Given the description of an element on the screen output the (x, y) to click on. 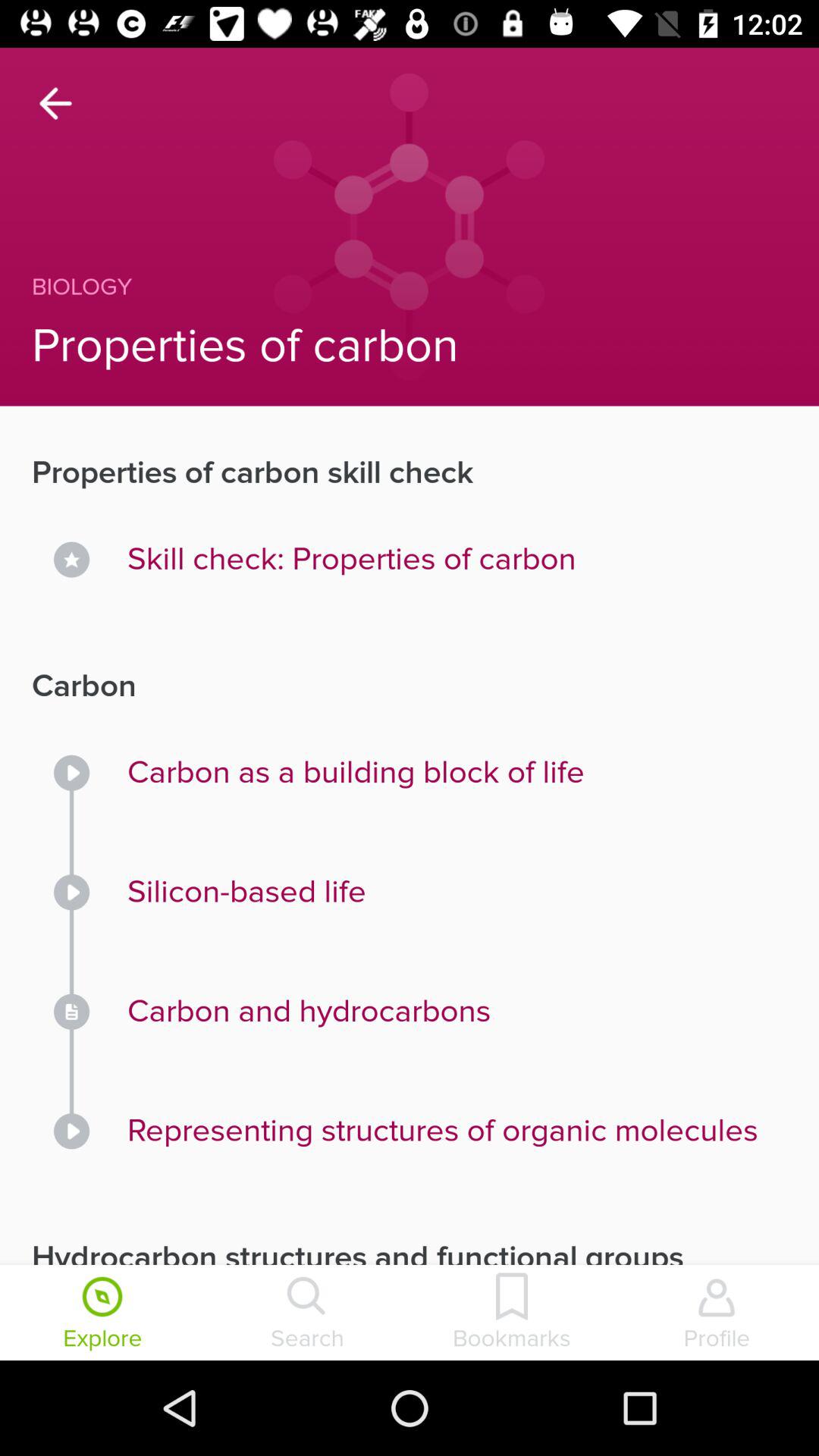
open explore item (102, 1314)
